Given the description of an element on the screen output the (x, y) to click on. 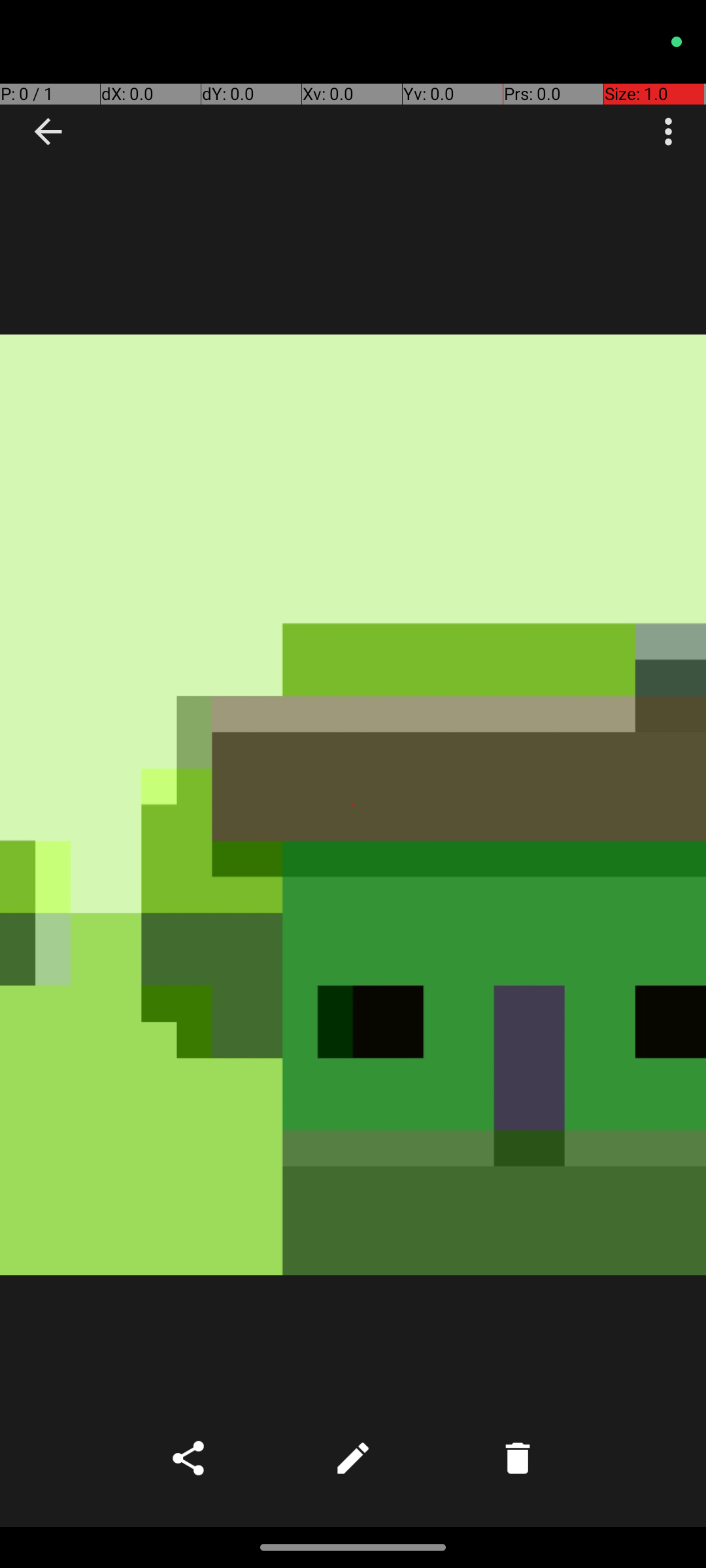
Photo taken on Oct 15, 2023 15:34:55 Element type: android.widget.ImageView (353, 804)
